Given the description of an element on the screen output the (x, y) to click on. 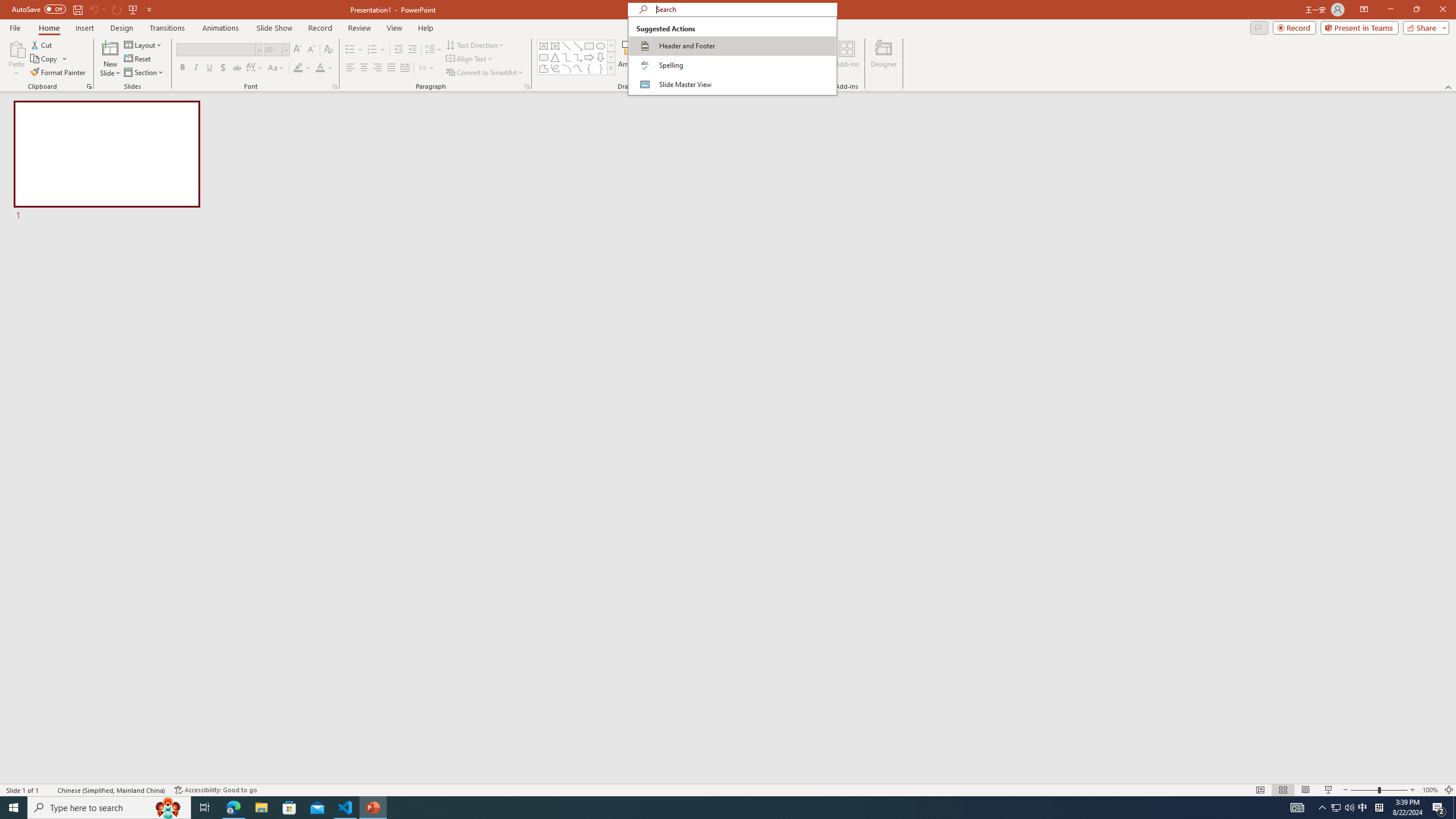
Spell Check  (49, 790)
